Given the description of an element on the screen output the (x, y) to click on. 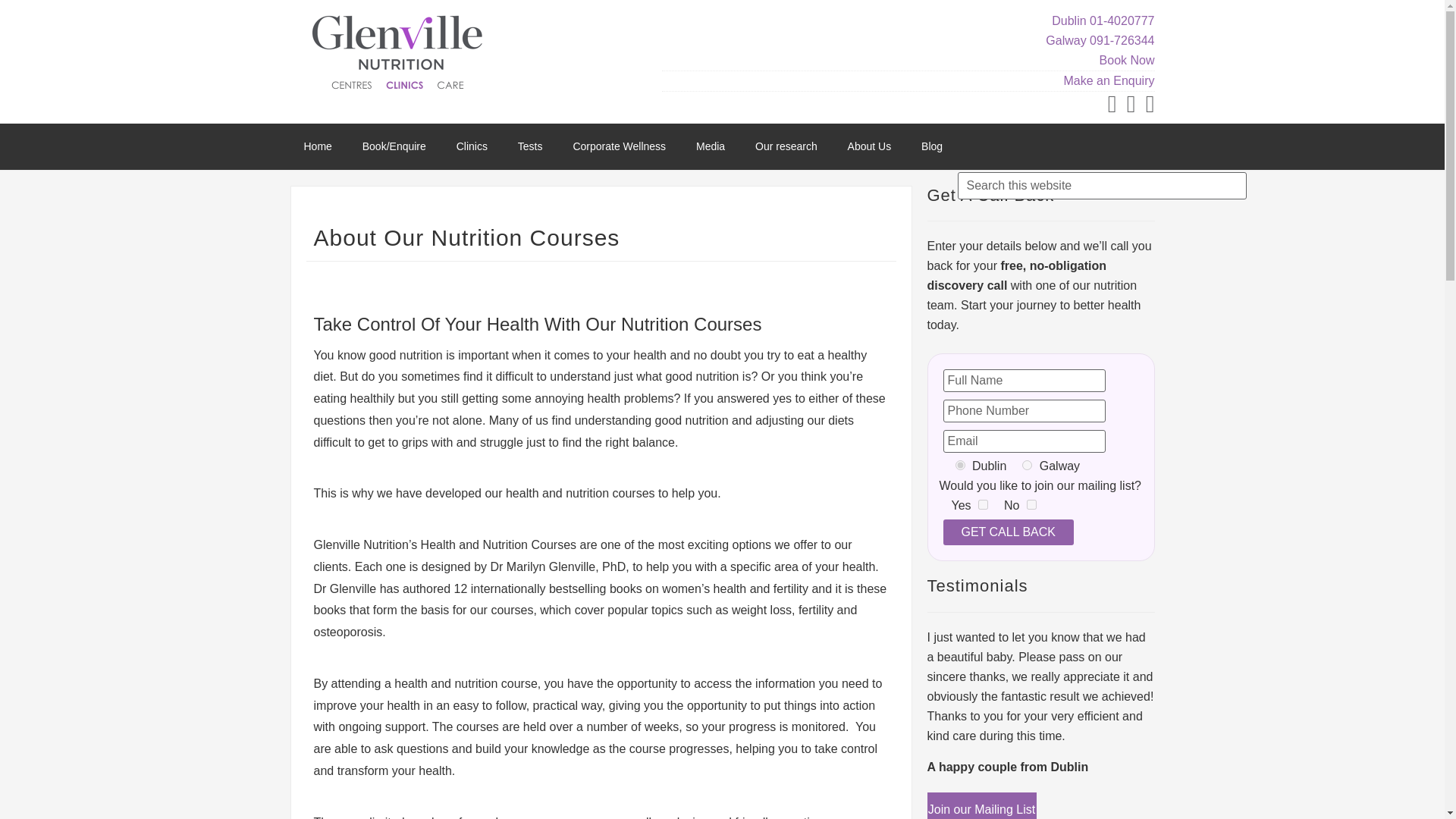
Media (710, 146)
Blog (931, 146)
Clinics (471, 146)
Corporate Wellness (619, 146)
01-4020777 (1121, 20)
Dublin (960, 465)
Tests (529, 146)
Galway (1027, 465)
Yes (983, 504)
GET CALL BACK (1008, 532)
Book Now (1126, 60)
Dublin (1068, 20)
No (1031, 504)
Our research (786, 146)
